Given the description of an element on the screen output the (x, y) to click on. 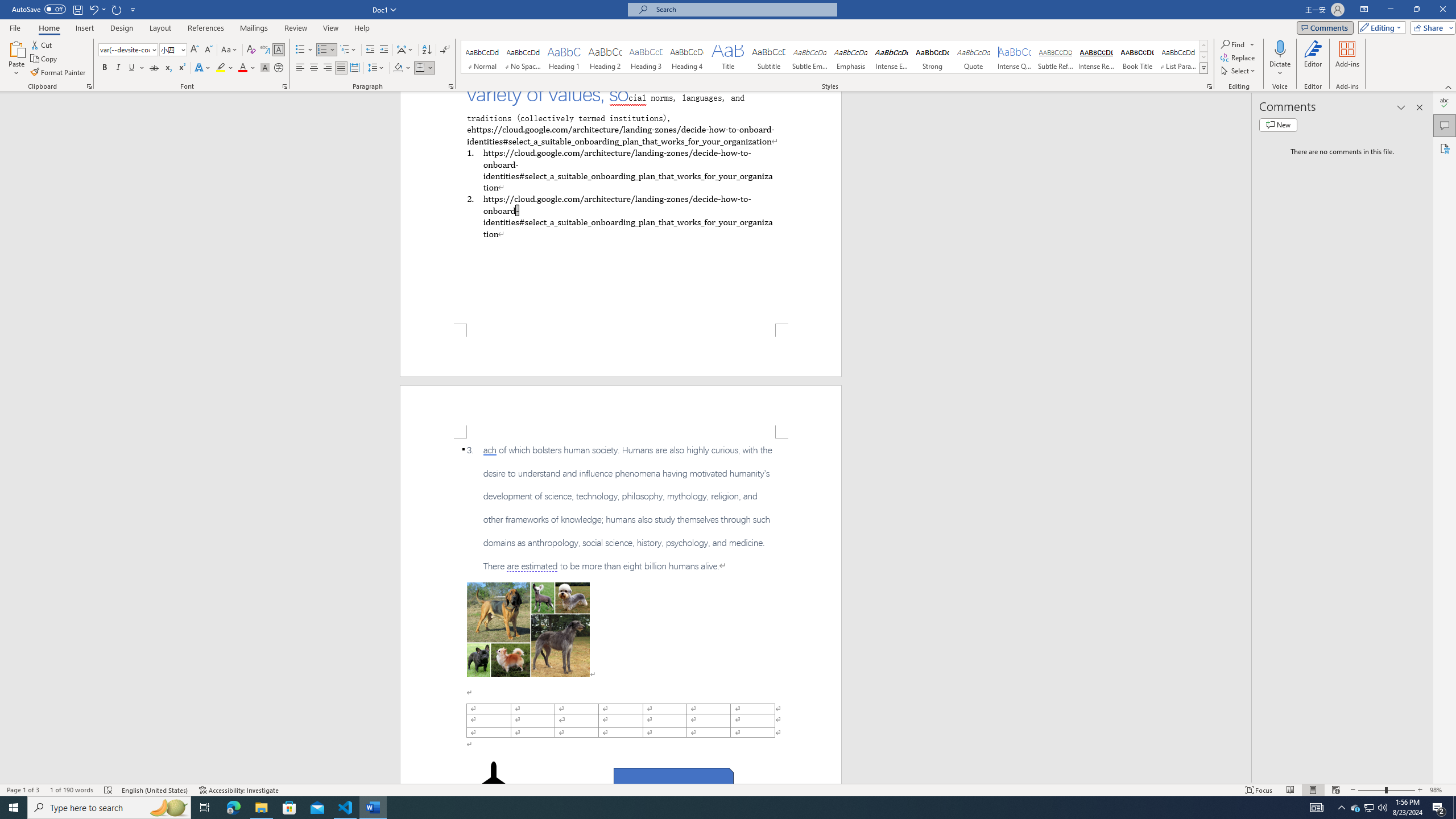
More Options (1280, 68)
Paste (16, 48)
Editor (1312, 58)
Underline (131, 67)
Bullets (300, 49)
Borders (419, 67)
Cut (42, 44)
Home (48, 28)
Text Highlight Color (224, 67)
Align Left (300, 67)
Underline (136, 67)
Page 2 content (620, 610)
Align Right (327, 67)
Font Size (172, 49)
Copy (45, 58)
